Given the description of an element on the screen output the (x, y) to click on. 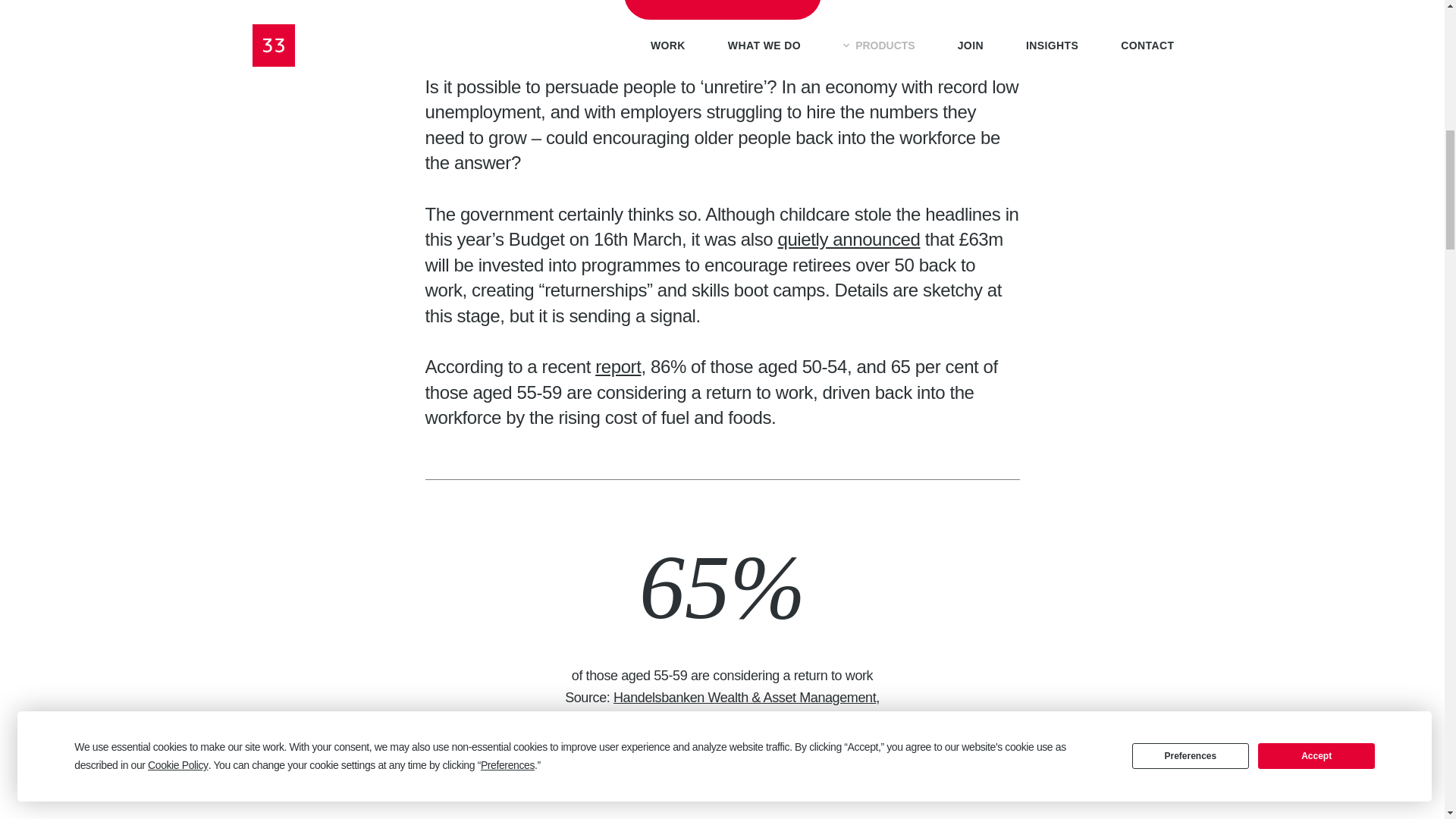
2022 (720, 719)
DOWNLOAD WHITE PAPER (722, 9)
quietly announced (848, 239)
report (617, 366)
